Given the description of an element on the screen output the (x, y) to click on. 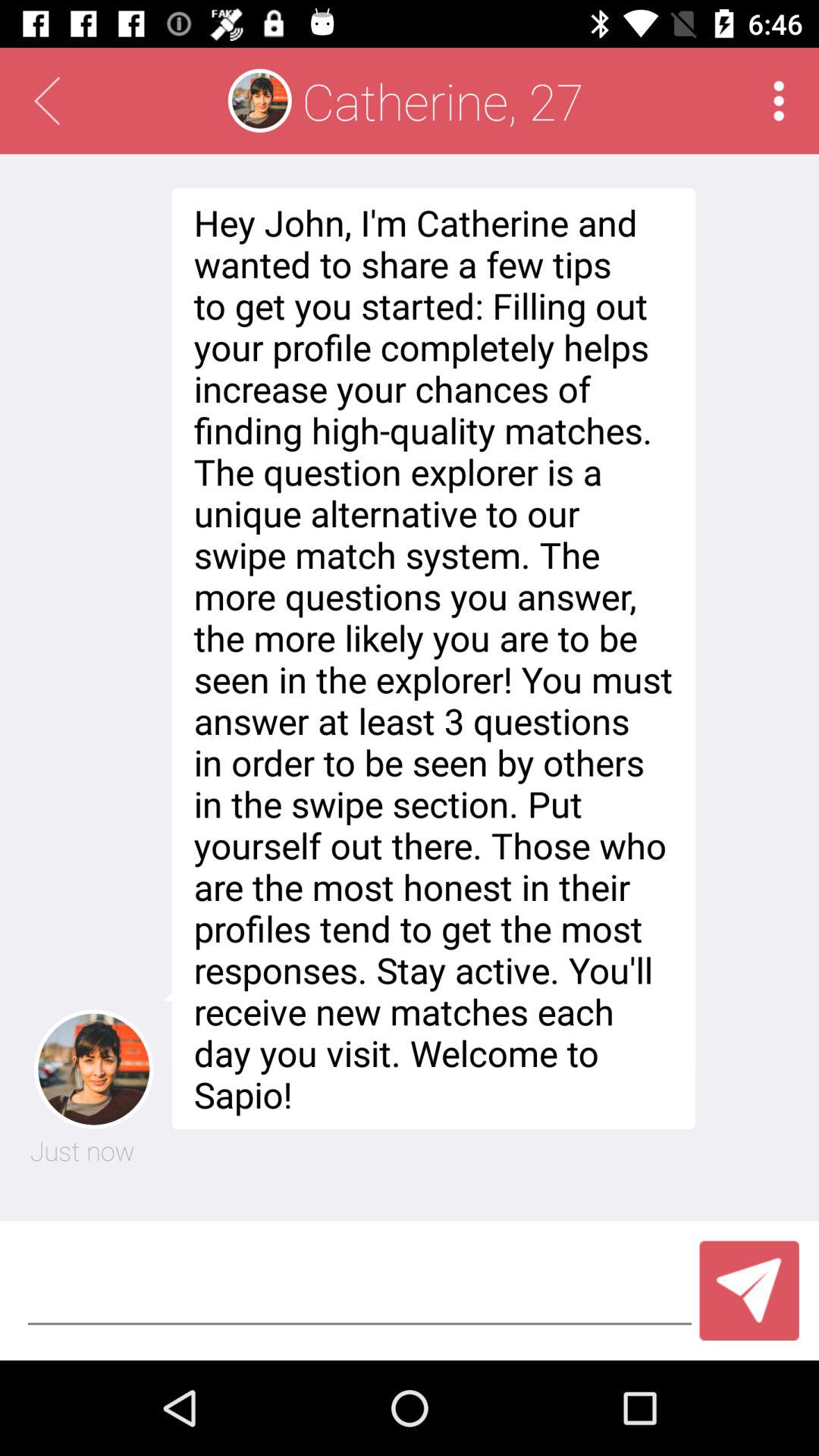
click for more options (778, 100)
